Given the description of an element on the screen output the (x, y) to click on. 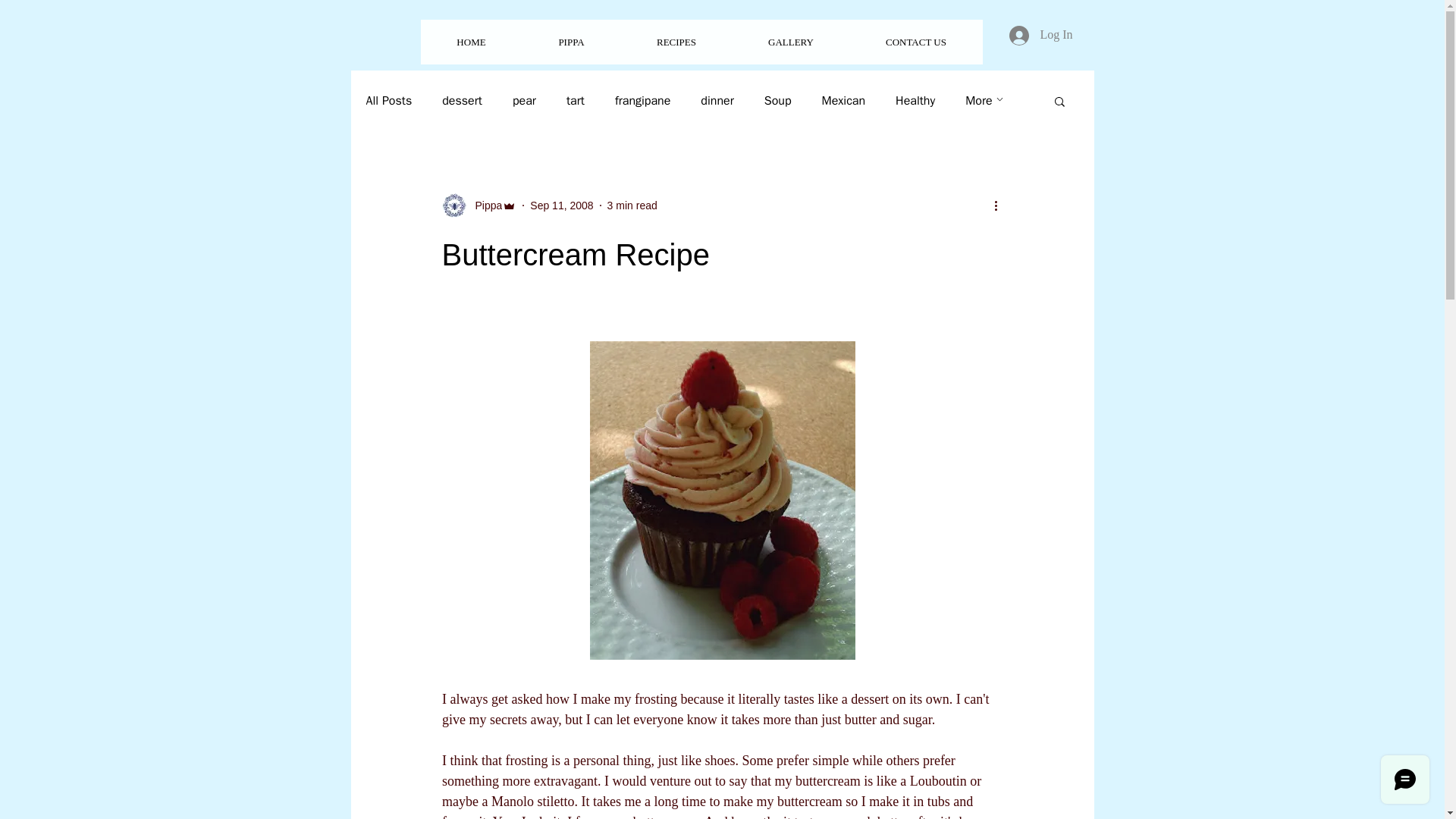
Soup (778, 100)
HOME (470, 41)
pear (523, 100)
dessert (461, 100)
frangipane (641, 100)
Pippa (478, 205)
PIPPA (570, 41)
CONTACT US (914, 41)
Log In (1040, 35)
tart (575, 100)
Sep 11, 2008 (560, 204)
Healthy (914, 100)
Pippa  (483, 204)
3 min read (632, 204)
dinner (716, 100)
